Given the description of an element on the screen output the (x, y) to click on. 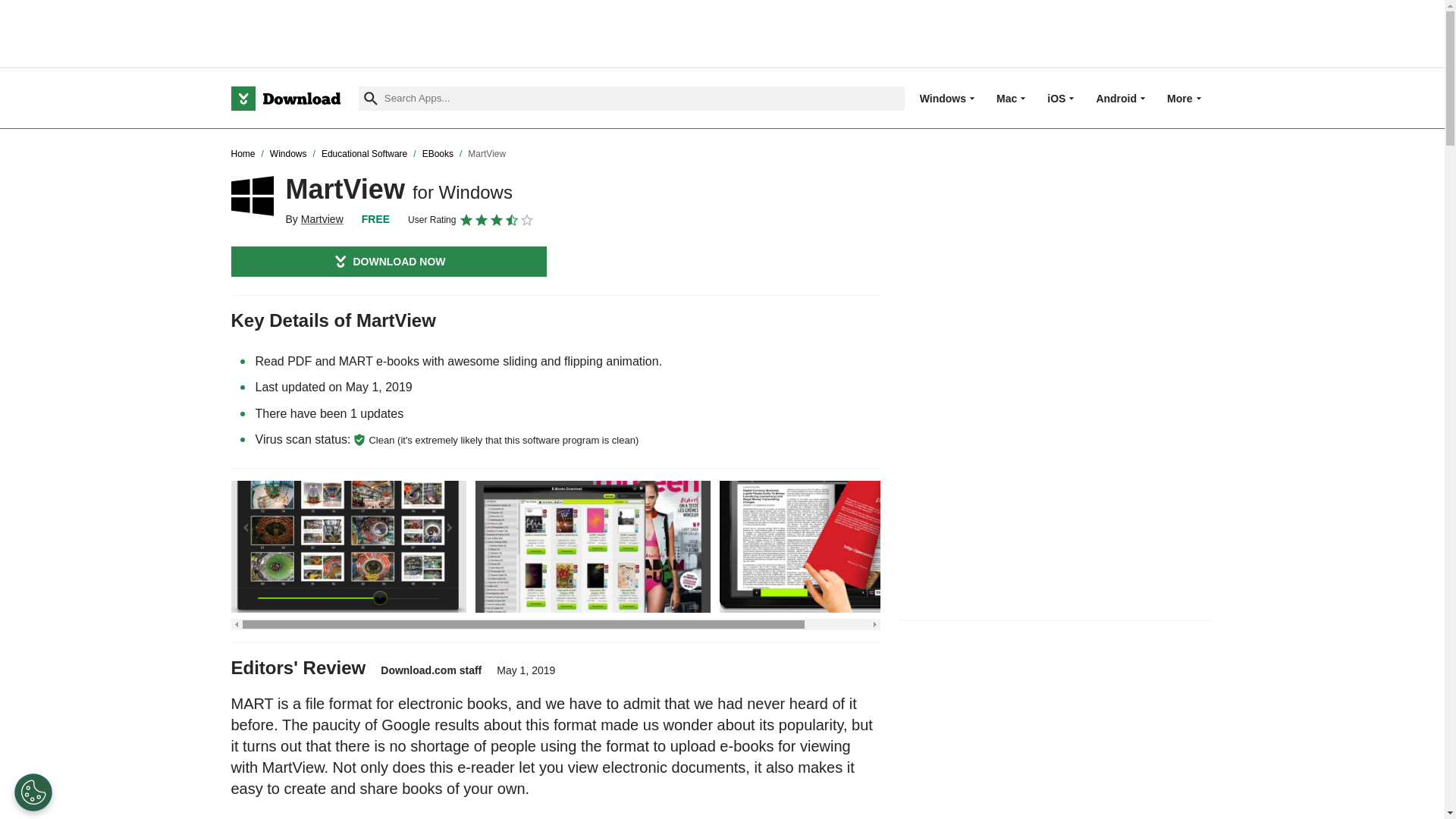
Mac (1005, 97)
Windows (943, 97)
MartView for Windows (251, 195)
